Given the description of an element on the screen output the (x, y) to click on. 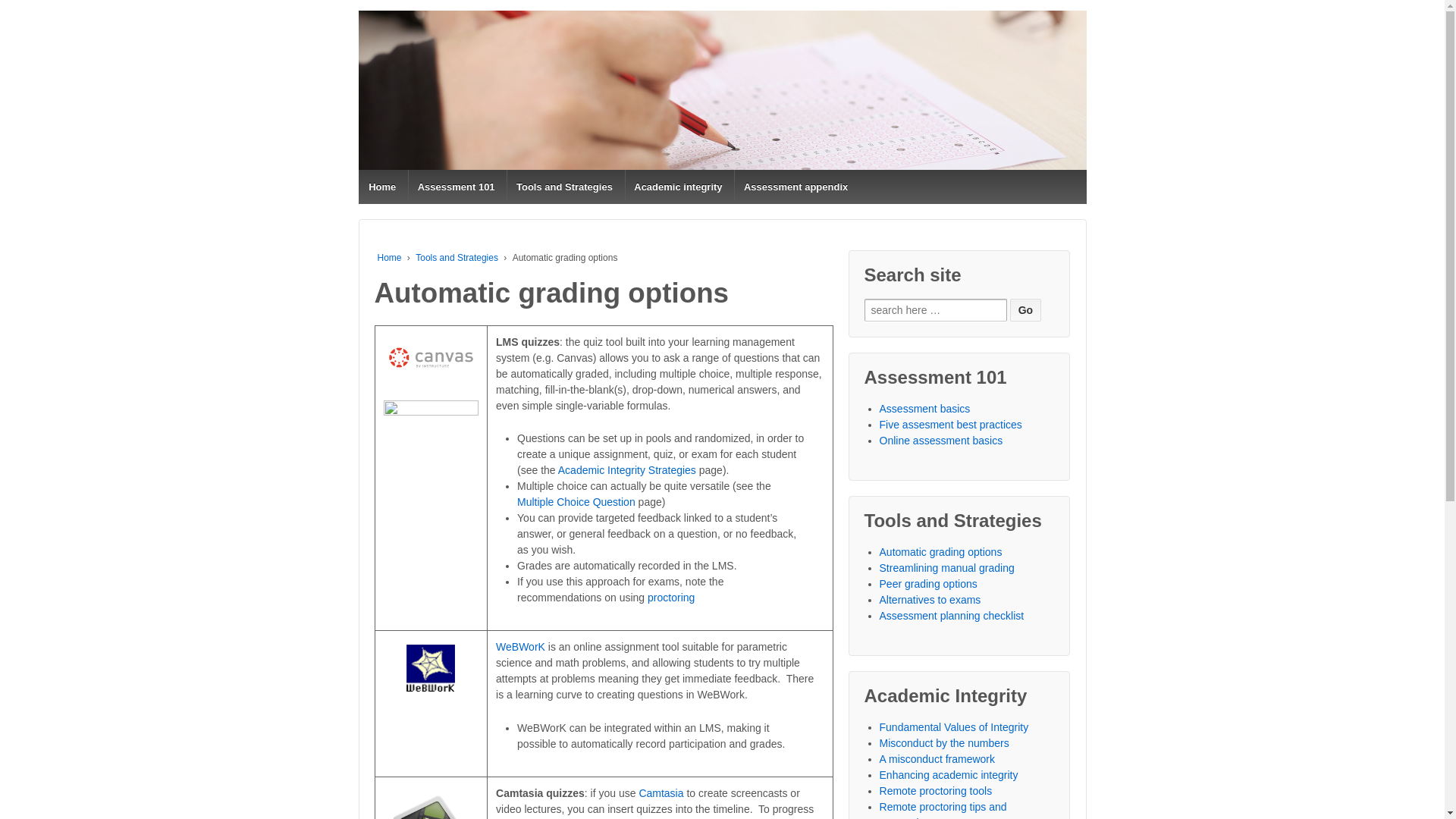
Home (389, 257)
Tools and Strategies (563, 186)
Multiple Choice Question (575, 501)
Academic integrity (678, 186)
Academic Integrity Strategies (626, 469)
proctoring (670, 597)
Assessment 101 (455, 186)
Tools and Strategies (455, 257)
Go (1025, 309)
Home (381, 186)
Assessment appendix (795, 186)
Camtasia (660, 793)
WeBWorK (520, 646)
